Given the description of an element on the screen output the (x, y) to click on. 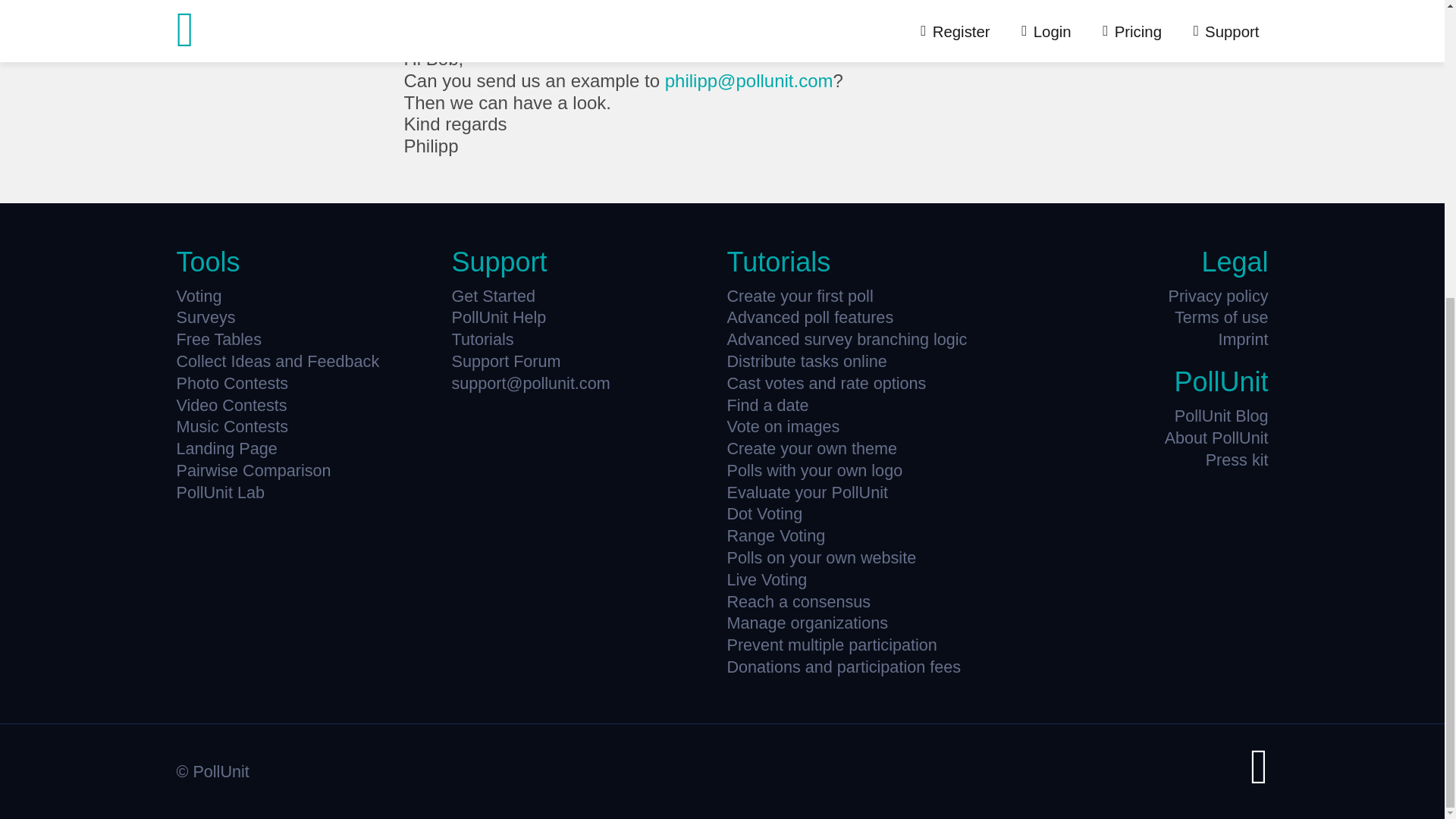
Photo Contests (309, 383)
2022-04-26 06:19 AM UTC (593, 34)
Music Contests (309, 426)
Pairwise Comparison (309, 470)
2022-04-26 (593, 34)
Support Forum (584, 361)
Free Tables (309, 339)
PollUnit Lab (309, 492)
Video Contests (309, 405)
Tutorials (584, 339)
Surveys (309, 317)
Collect Ideas and Feedback (309, 361)
Advanced poll features (859, 317)
Voting (309, 296)
Get Started (584, 296)
